Given the description of an element on the screen output the (x, y) to click on. 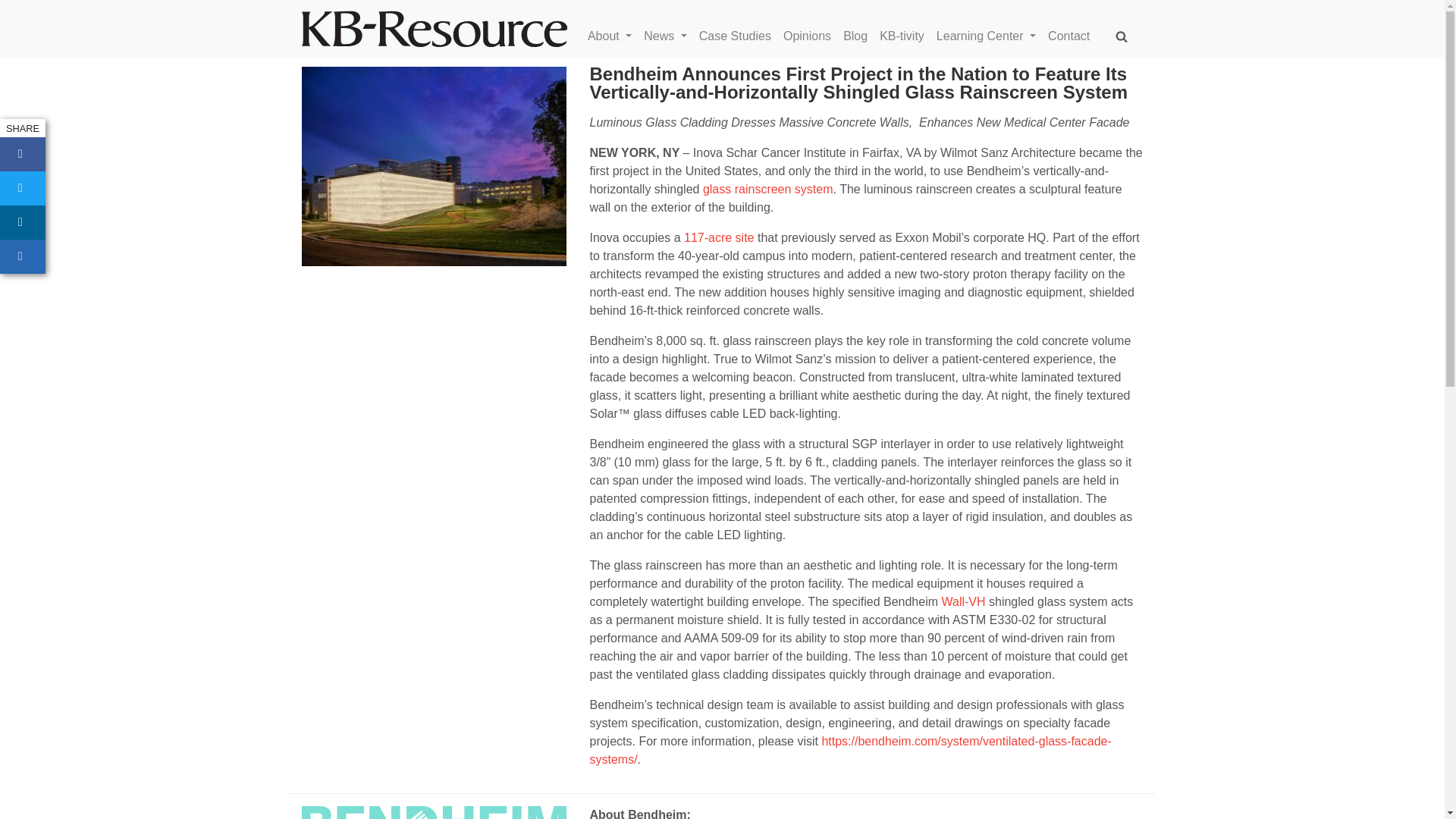
glass rainscreen system (767, 188)
Contact (1075, 35)
Opinions (813, 35)
Case Studies (740, 35)
KB-tivity (907, 35)
Blog (861, 35)
117-acre site (719, 237)
Learning Center (992, 35)
About (615, 35)
Wall-VH (962, 601)
